Given the description of an element on the screen output the (x, y) to click on. 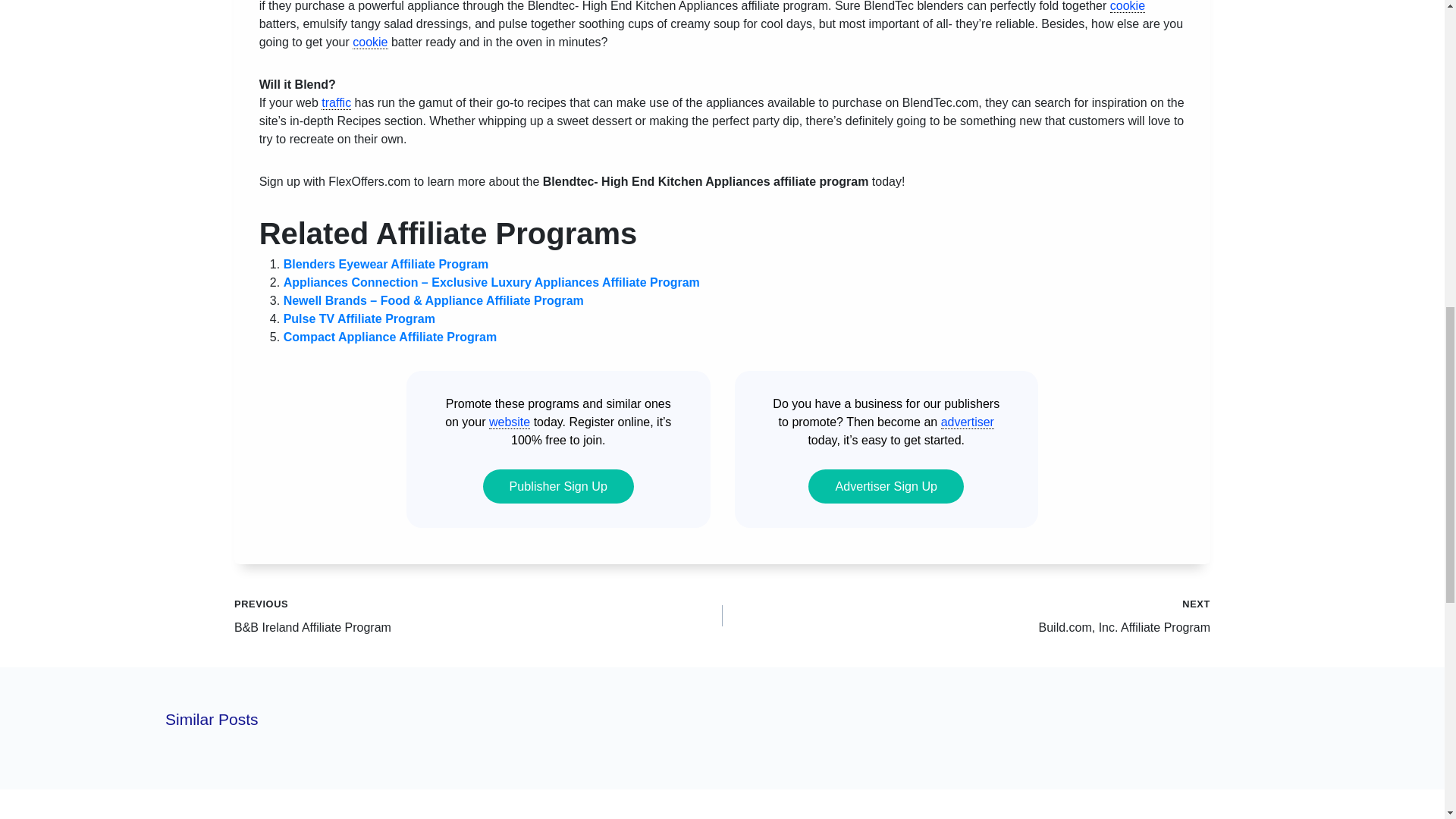
traffic (335, 102)
cookie (1126, 6)
Pulse TV Affiliate Program (359, 318)
Blenders Eyewear Affiliate Program (386, 264)
cookie (369, 42)
Compact Appliance Affiliate Program (390, 336)
